Given the description of an element on the screen output the (x, y) to click on. 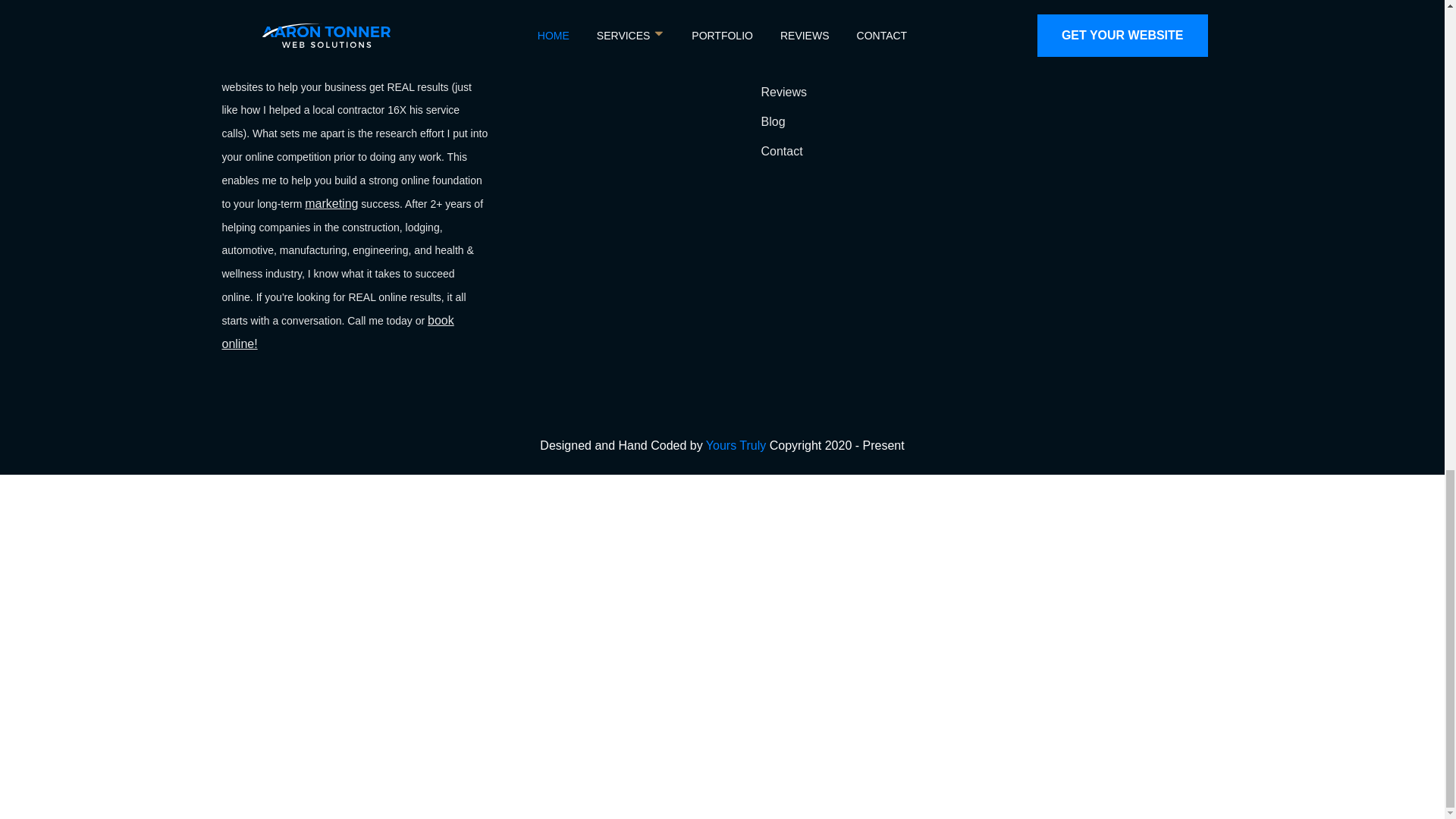
web designer (357, 15)
Calgary AB (1138, 3)
marketing (331, 203)
Yours Truly (735, 445)
Reviews (783, 91)
Search Engine Optimization (981, 32)
Contact (782, 151)
Portfolio (783, 62)
Services (784, 32)
book online! (336, 331)
Home (777, 4)
Blog (773, 121)
local SEO services (353, 51)
Click to Email (1145, 52)
